Given the description of an element on the screen output the (x, y) to click on. 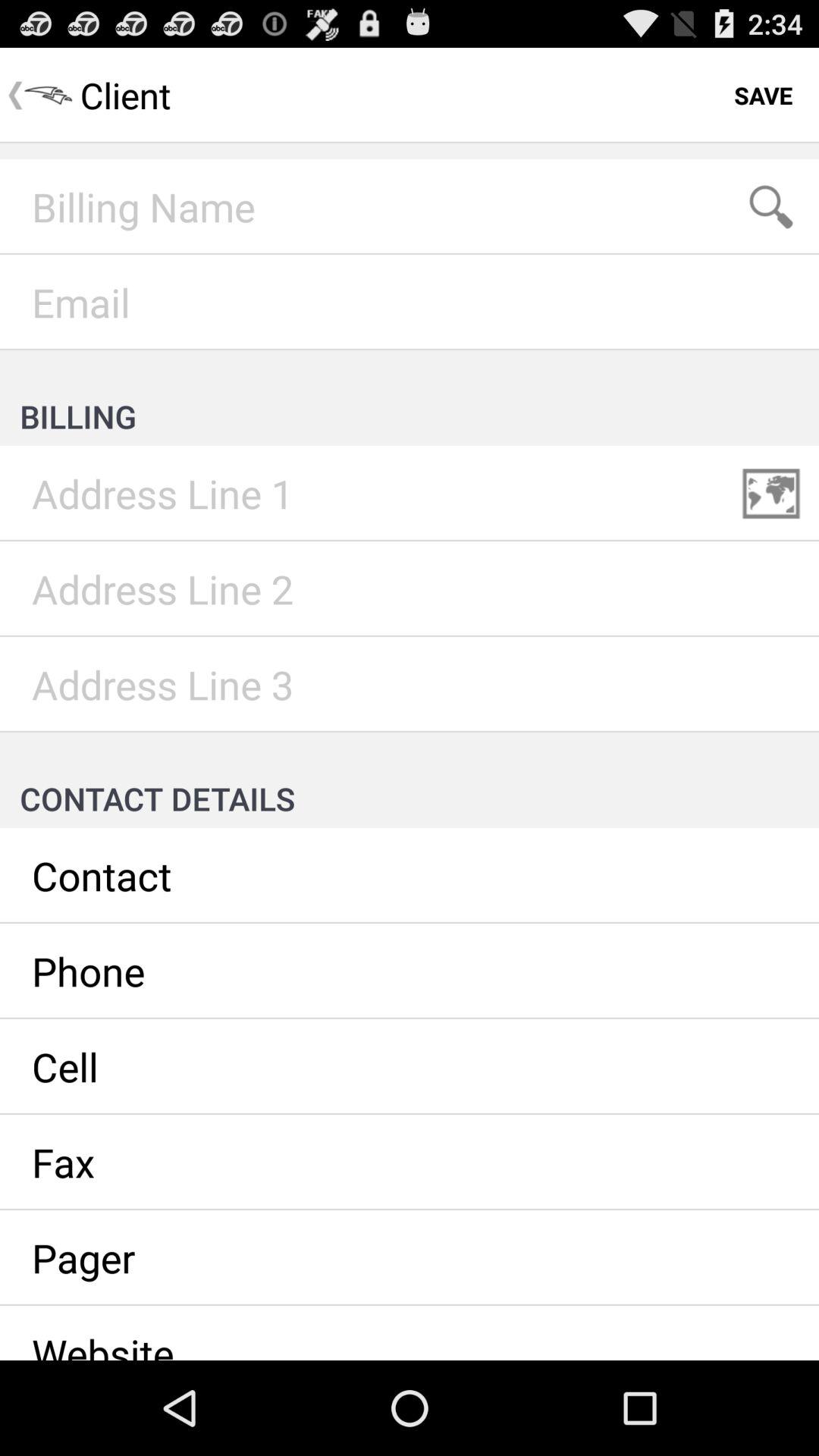
enter address line 2 (409, 589)
